Given the description of an element on the screen output the (x, y) to click on. 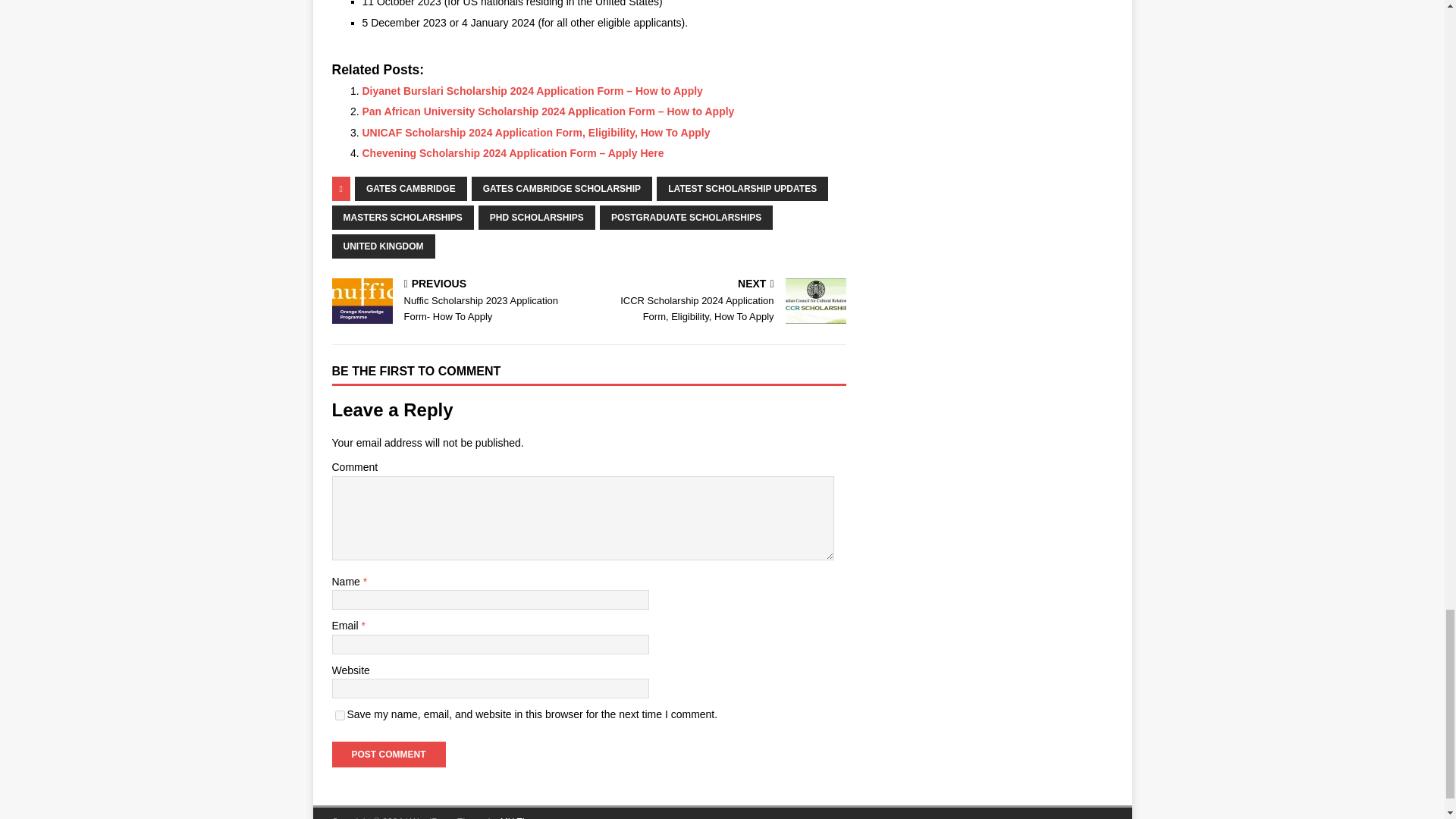
yes (339, 715)
Post Comment (388, 754)
